Given the description of an element on the screen output the (x, y) to click on. 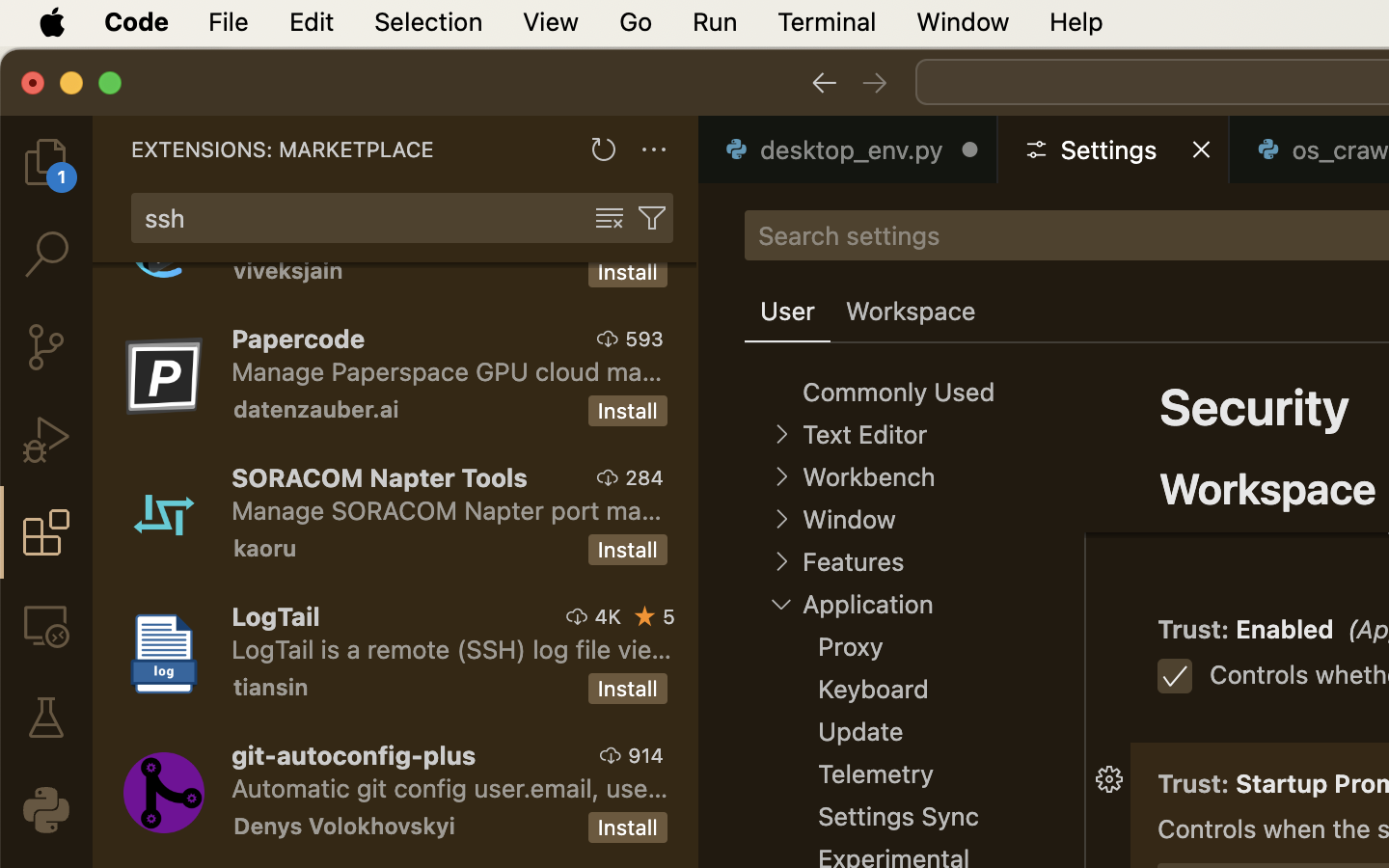
Search settings Element type: AXStaticText (849, 235)
284 Element type: AXStaticText (644, 476)
0 desktop_env.py   Element type: AXRadioButton (848, 149)
 Element type: AXStaticText (1108, 435)
Manage Paperspace GPU cloud machines directly from VS Code. Open with just one click a remote VS Code session, streamlining your machine learning & data science process and increasing productivity. Element type: AXStaticText (447, 370)
